Given the description of an element on the screen output the (x, y) to click on. 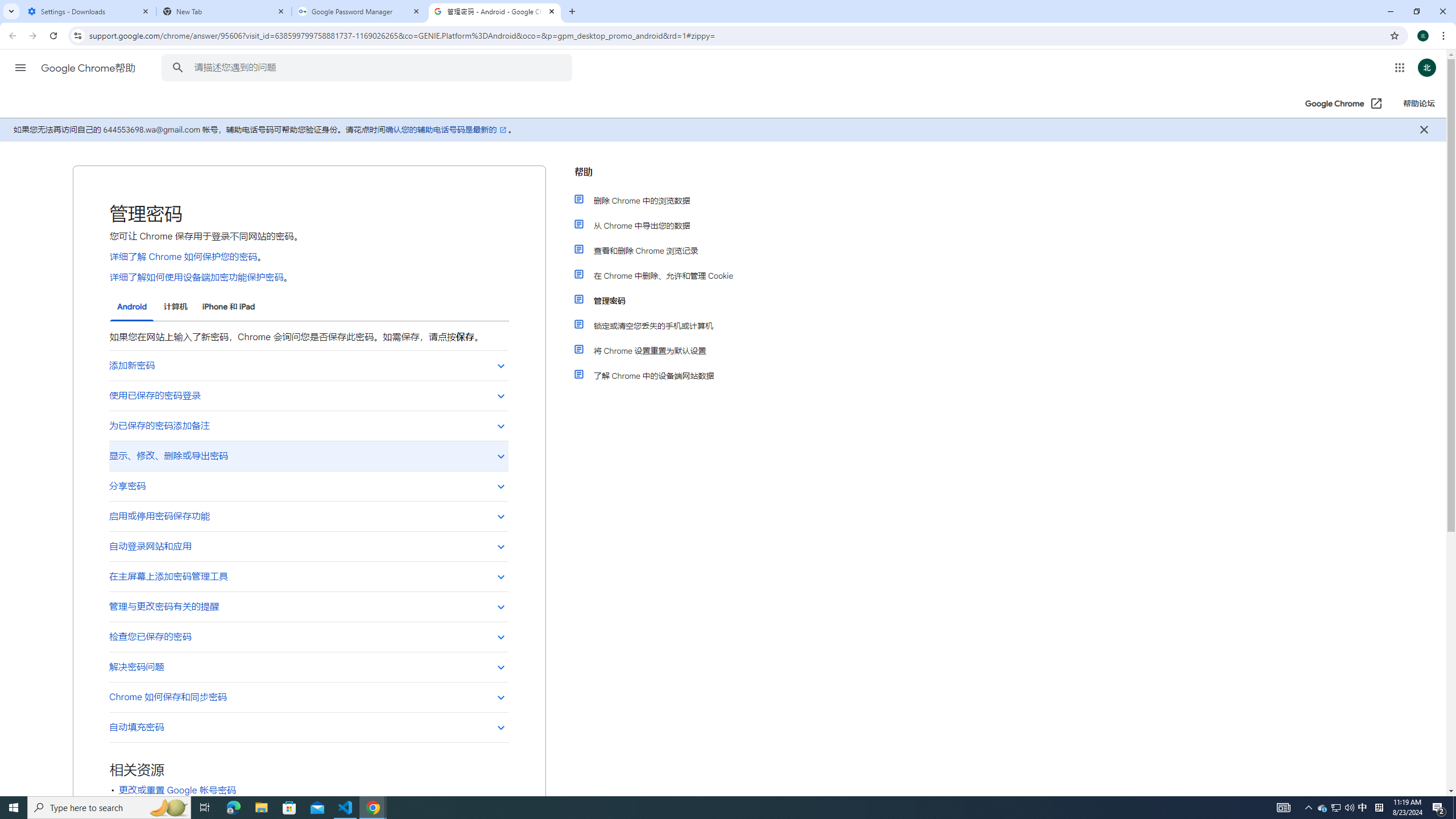
Google Password Manager (359, 11)
Settings - Downloads (88, 11)
